Given the description of an element on the screen output the (x, y) to click on. 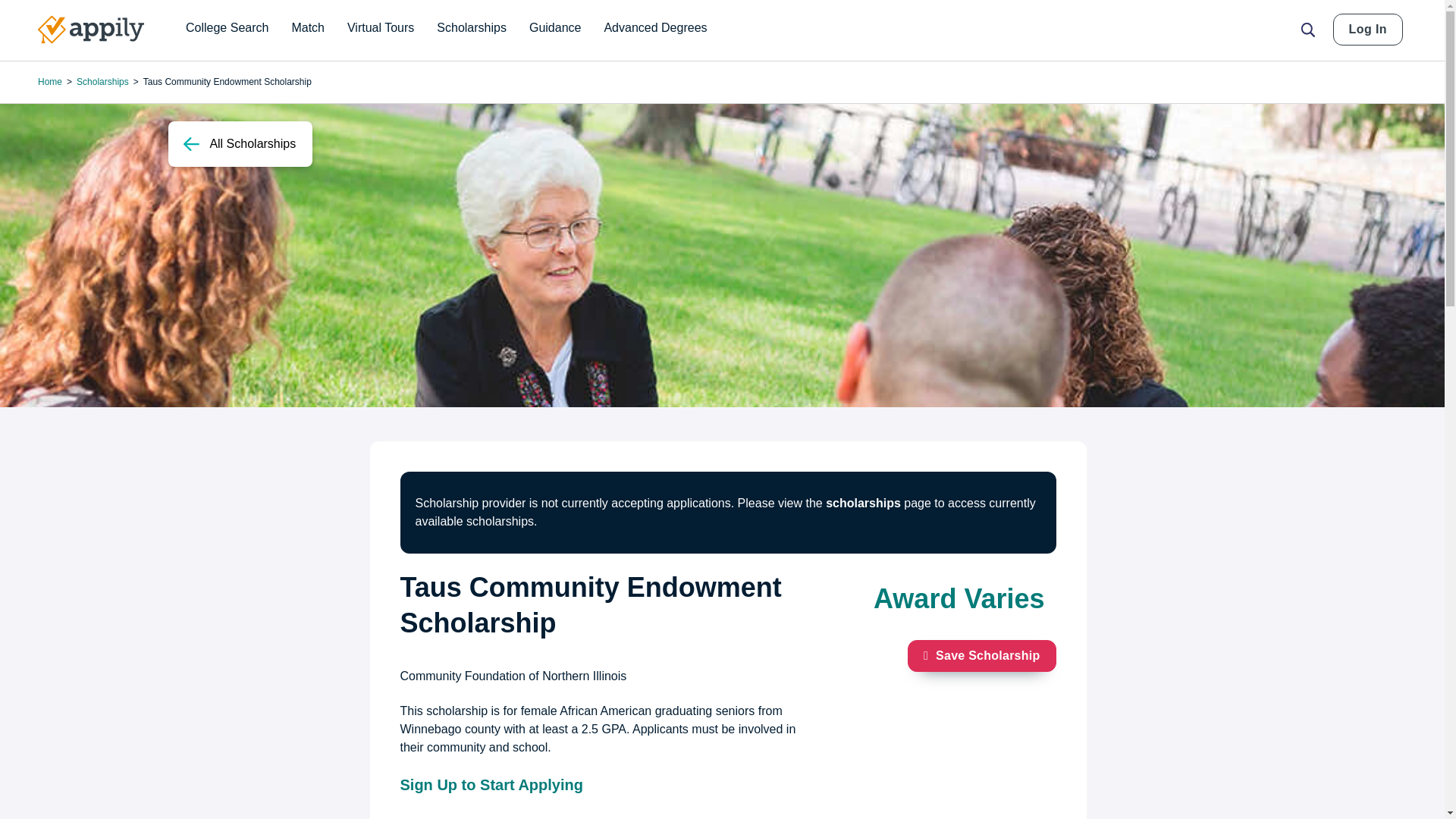
Home (90, 29)
Scholarships (471, 28)
Virtual Tours (380, 28)
Match (307, 28)
College Search (226, 28)
